Given the description of an element on the screen output the (x, y) to click on. 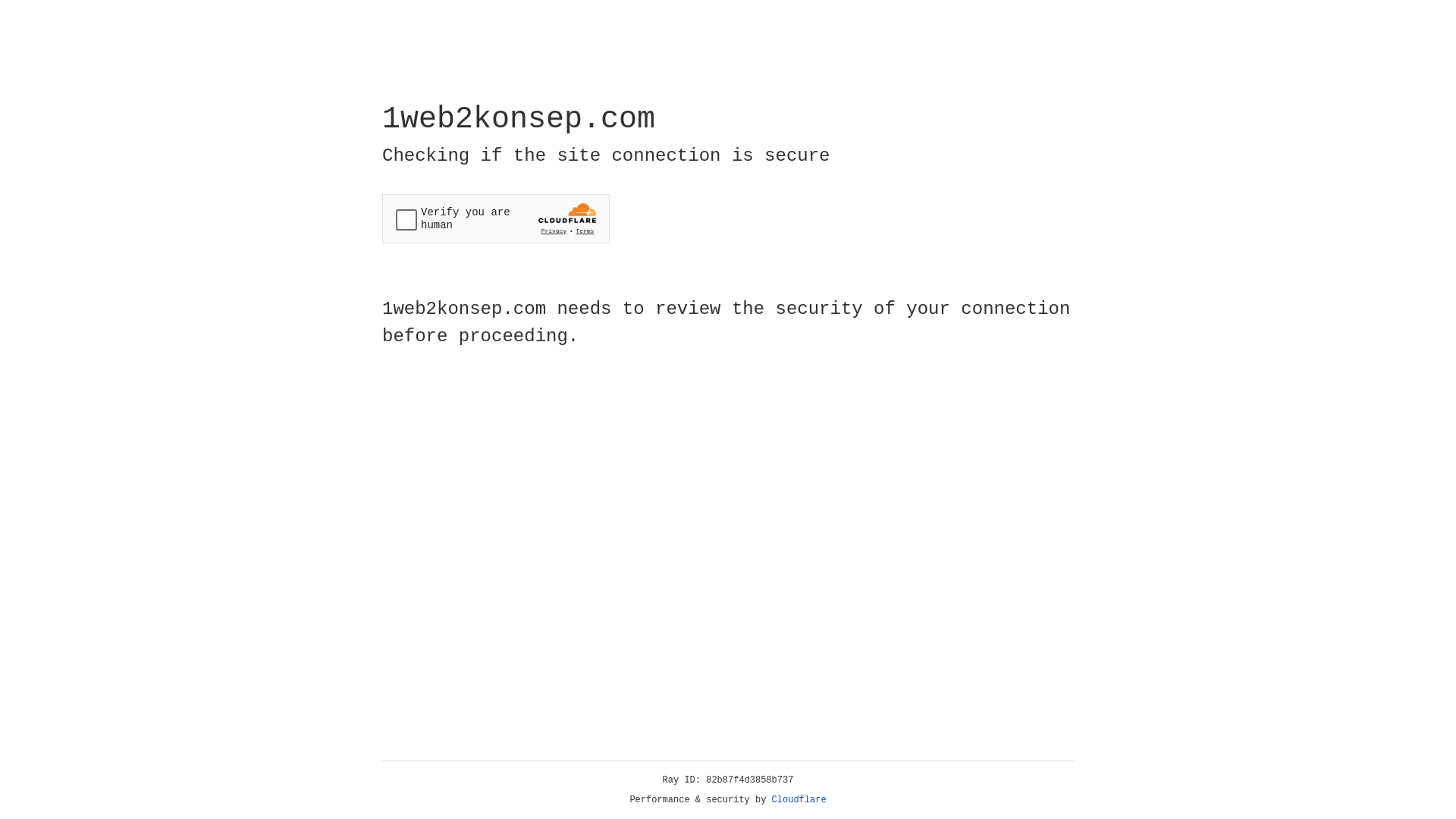
Widget containing a Cloudflare security challenge Element type: hover (495, 218)
Cloudflare Element type: text (798, 799)
